Given the description of an element on the screen output the (x, y) to click on. 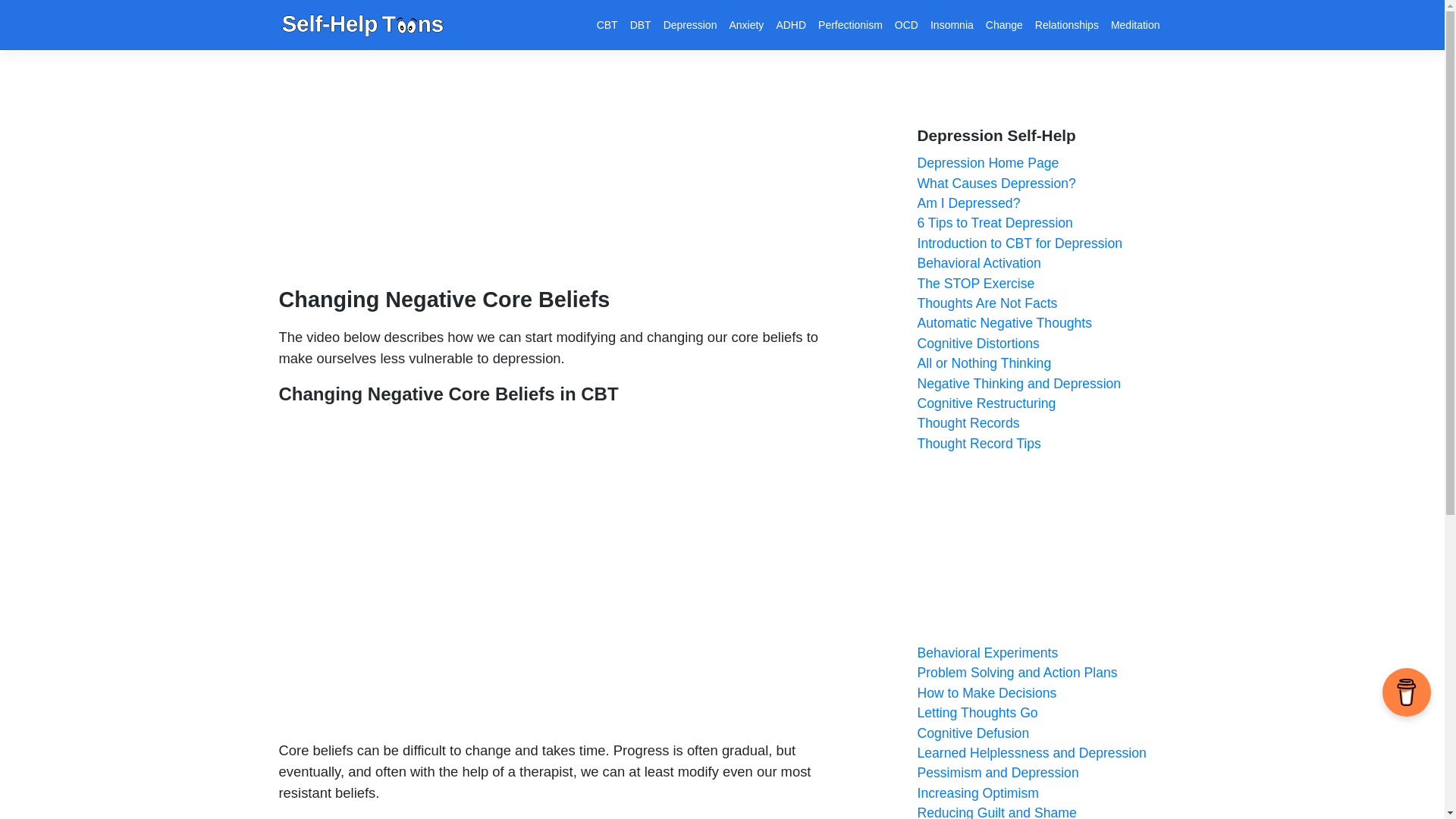
DBT (641, 24)
Cognitive Defusion (973, 733)
Letting Thoughts Go (977, 712)
Negative Thinking and Depression (1019, 383)
DBT (641, 24)
How to Make Decisions (987, 693)
Relationships (1067, 24)
Advertisement (563, 180)
Relationships (1067, 24)
Advertisement (1041, 547)
Depression (690, 24)
Cognitive Restructuring (987, 403)
Change (1004, 24)
OCD (906, 24)
ADHD (791, 24)
